Given the description of an element on the screen output the (x, y) to click on. 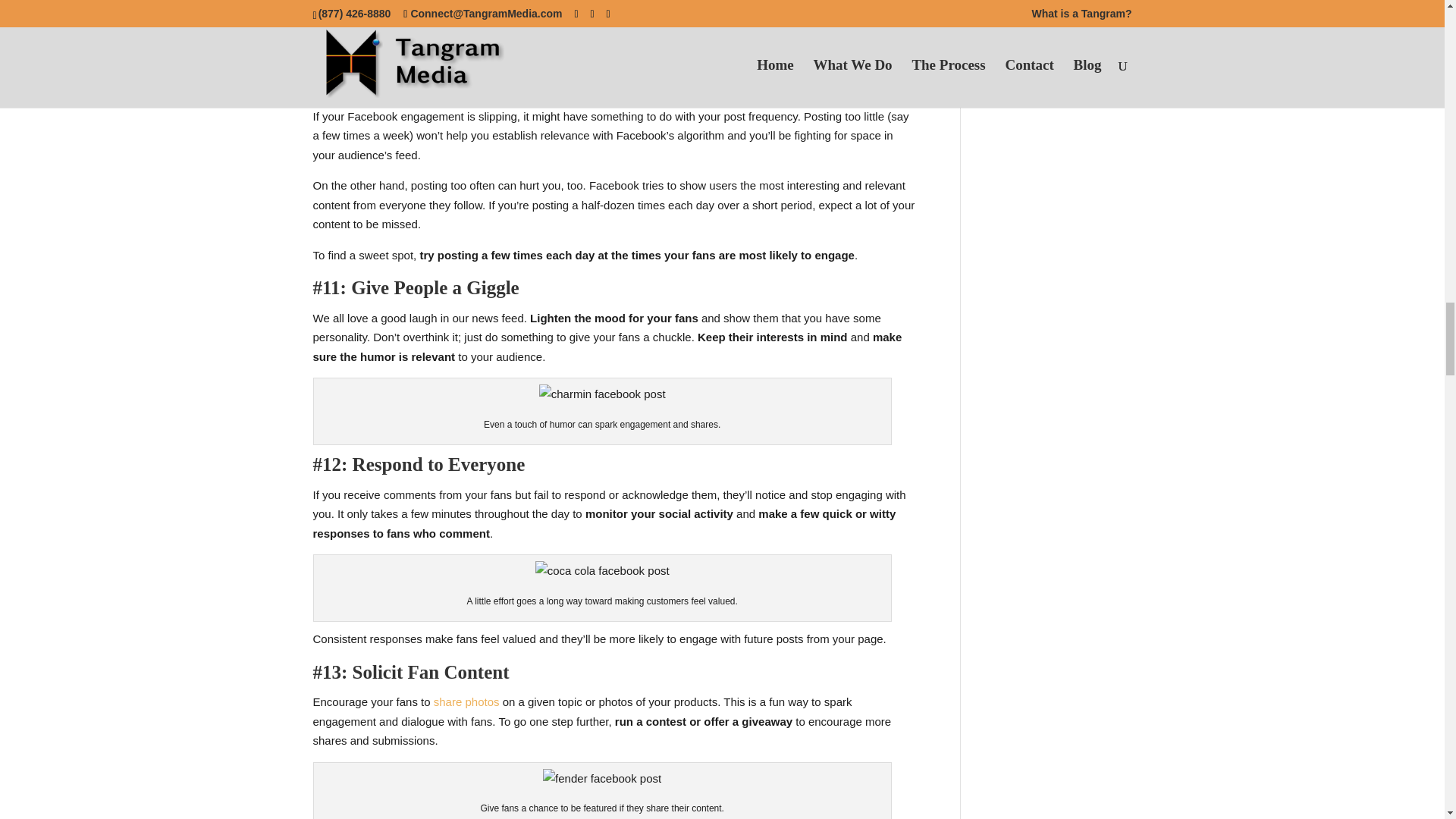
share photos (466, 701)
